Given the description of an element on the screen output the (x, y) to click on. 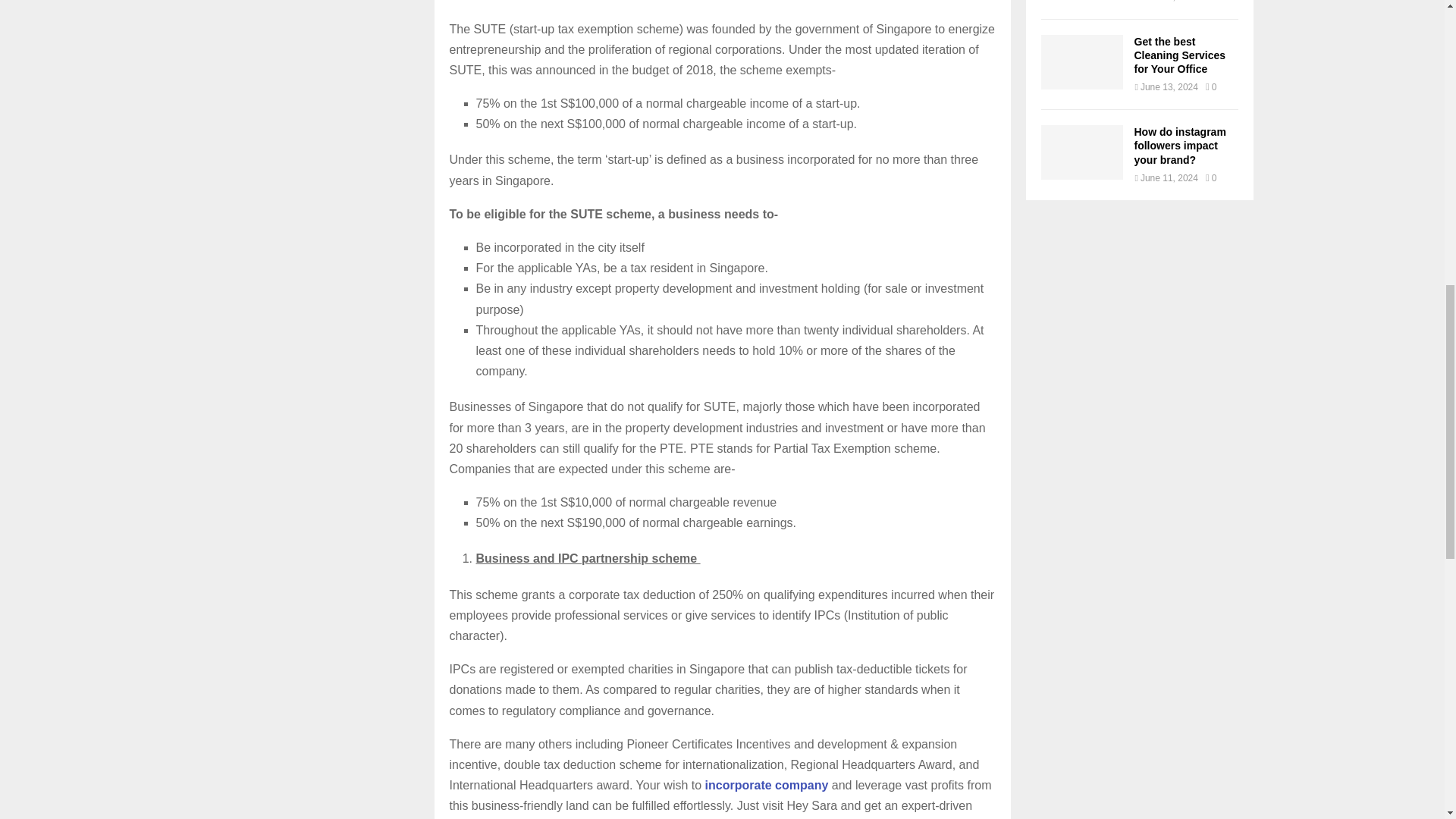
incorporate company (766, 784)
